Given the description of an element on the screen output the (x, y) to click on. 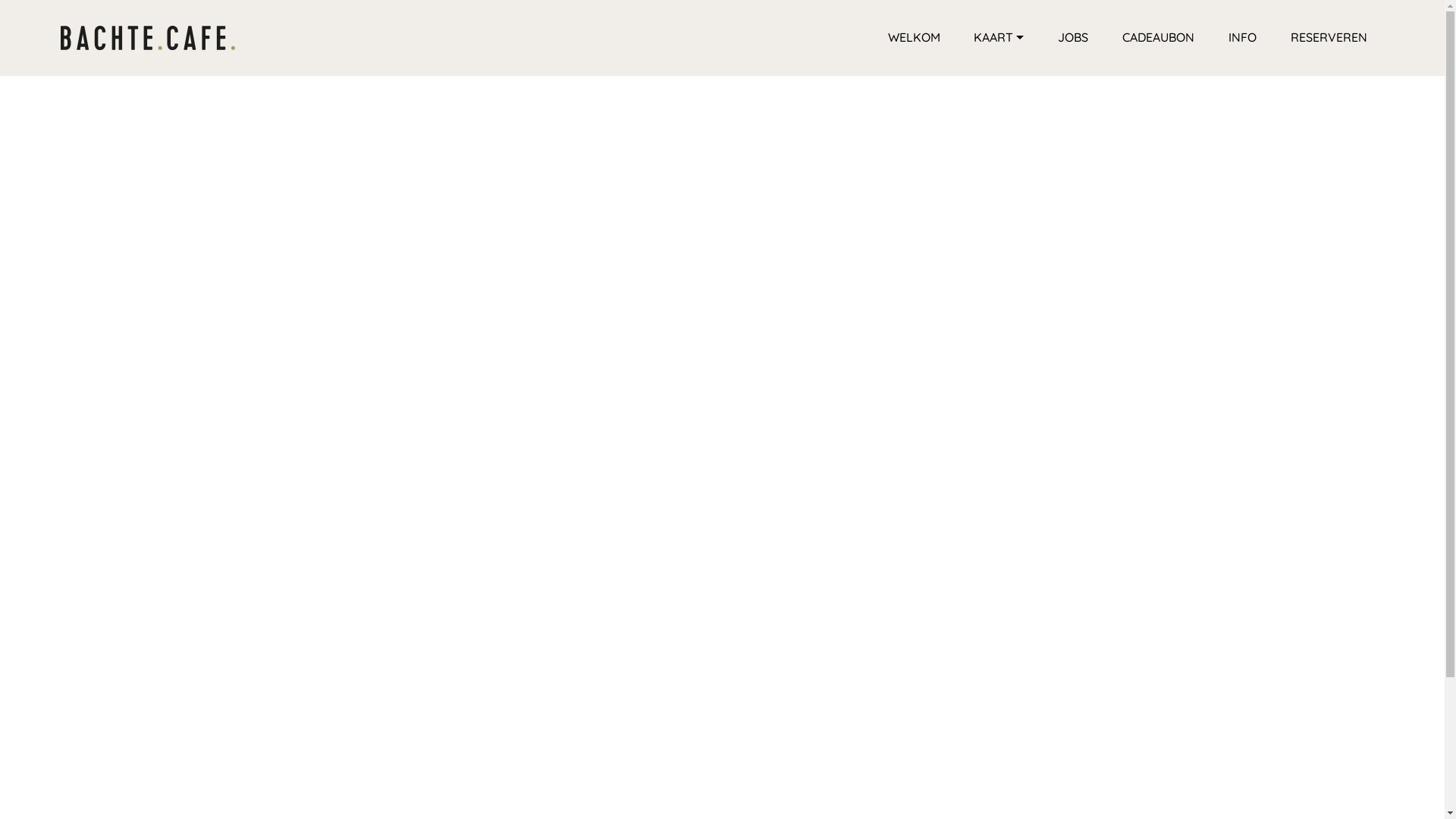
CADEAUBON Element type: text (1158, 37)
RESERVEREN Element type: text (1328, 37)
KAART Element type: text (998, 37)
WELKOM Element type: text (914, 37)
JOBS Element type: text (1072, 37)
INFO Element type: text (1242, 37)
